Given the description of an element on the screen output the (x, y) to click on. 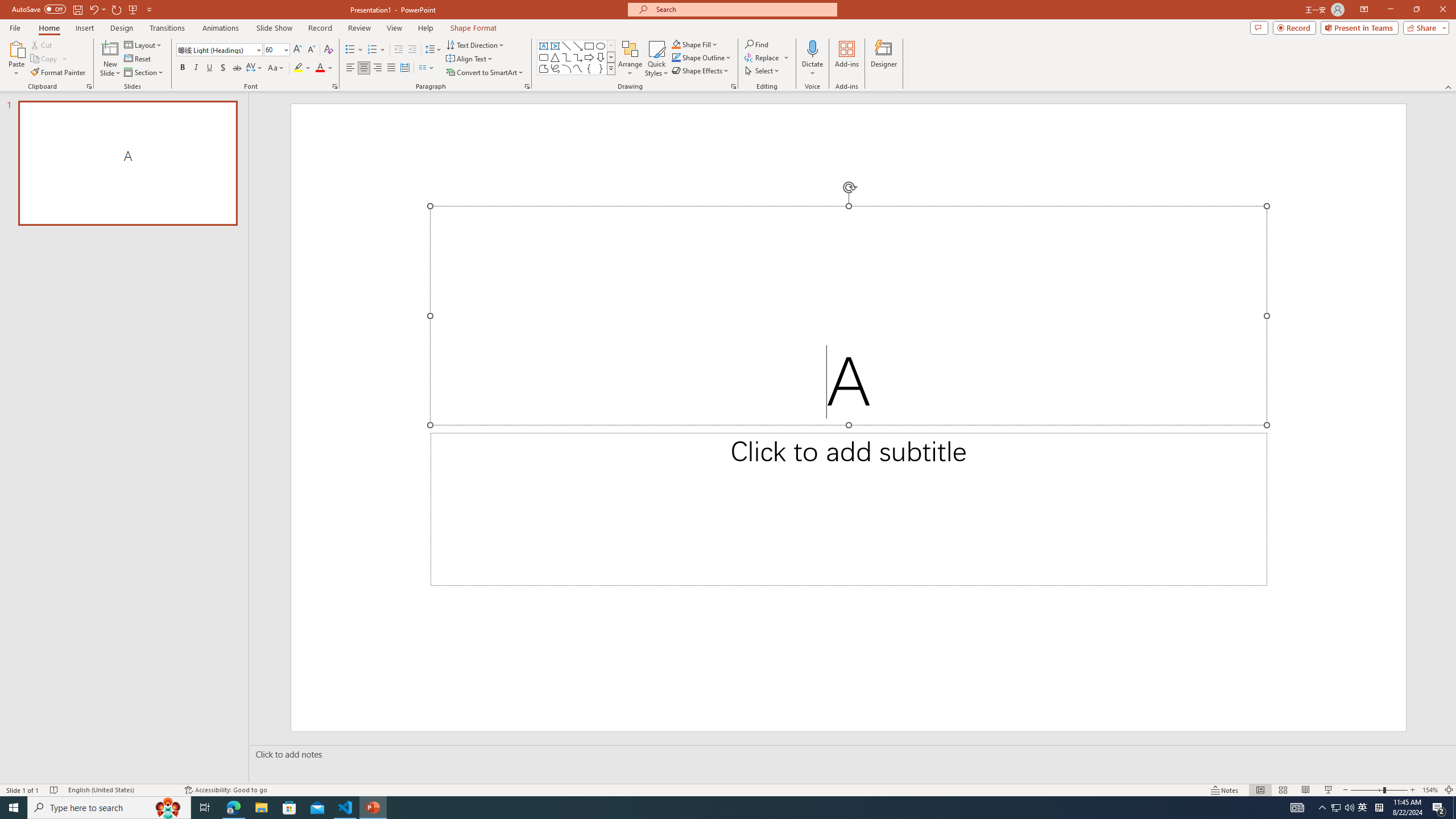
Zoom 154% (1430, 790)
